Given the description of an element on the screen output the (x, y) to click on. 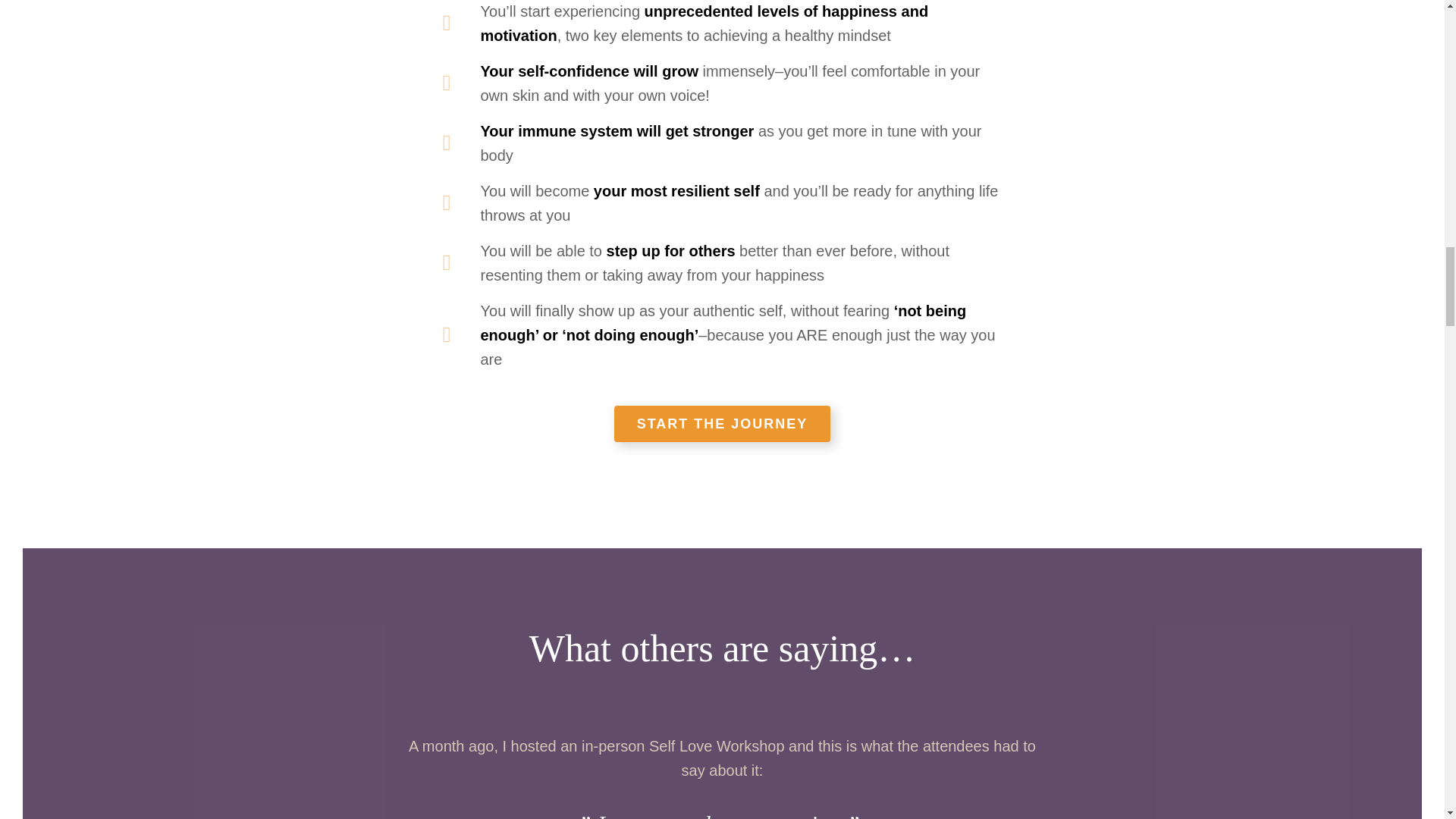
START THE JOURNEY (722, 423)
